Given the description of an element on the screen output the (x, y) to click on. 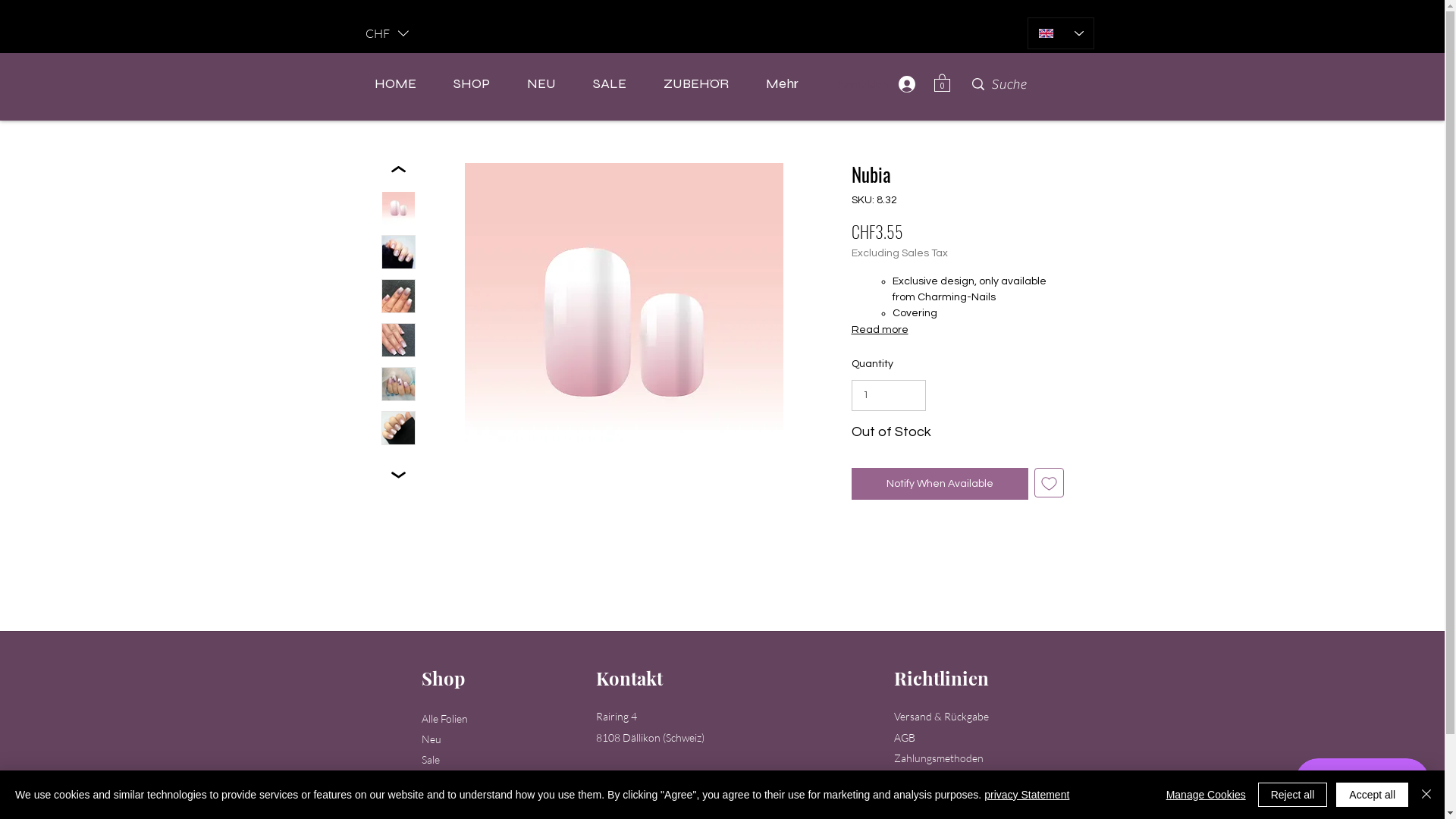
IOSS Element type: text (700, 32)
Read more Element type: text (956, 329)
NEU Element type: text (541, 83)
Reject all Element type: text (1292, 794)
info@charming-nails.com Element type: text (686, 798)
SALE Element type: text (609, 83)
HOME Element type: text (394, 83)
Alle Folien Element type: text (444, 719)
CHF (CHF) Element type: text (385, 32)
AGB Element type: text (903, 738)
SHOP Element type: text (471, 83)
Exklusiv Element type: text (439, 781)
Sale Element type: text (430, 760)
Notify When Available Element type: text (938, 483)
Neu Element type: text (431, 739)
Accept all Element type: text (1372, 794)
Impressum Element type: text (918, 799)
0 Element type: text (942, 81)
privacy Statement Element type: text (1026, 794)
Anmelden Element type: text (903, 84)
Zahlungsmethoden Element type: text (937, 758)
Cookies Element type: text (911, 779)
Smile.io Rewards Program Launcher Element type: hover (1362, 780)
